Given the description of an element on the screen output the (x, y) to click on. 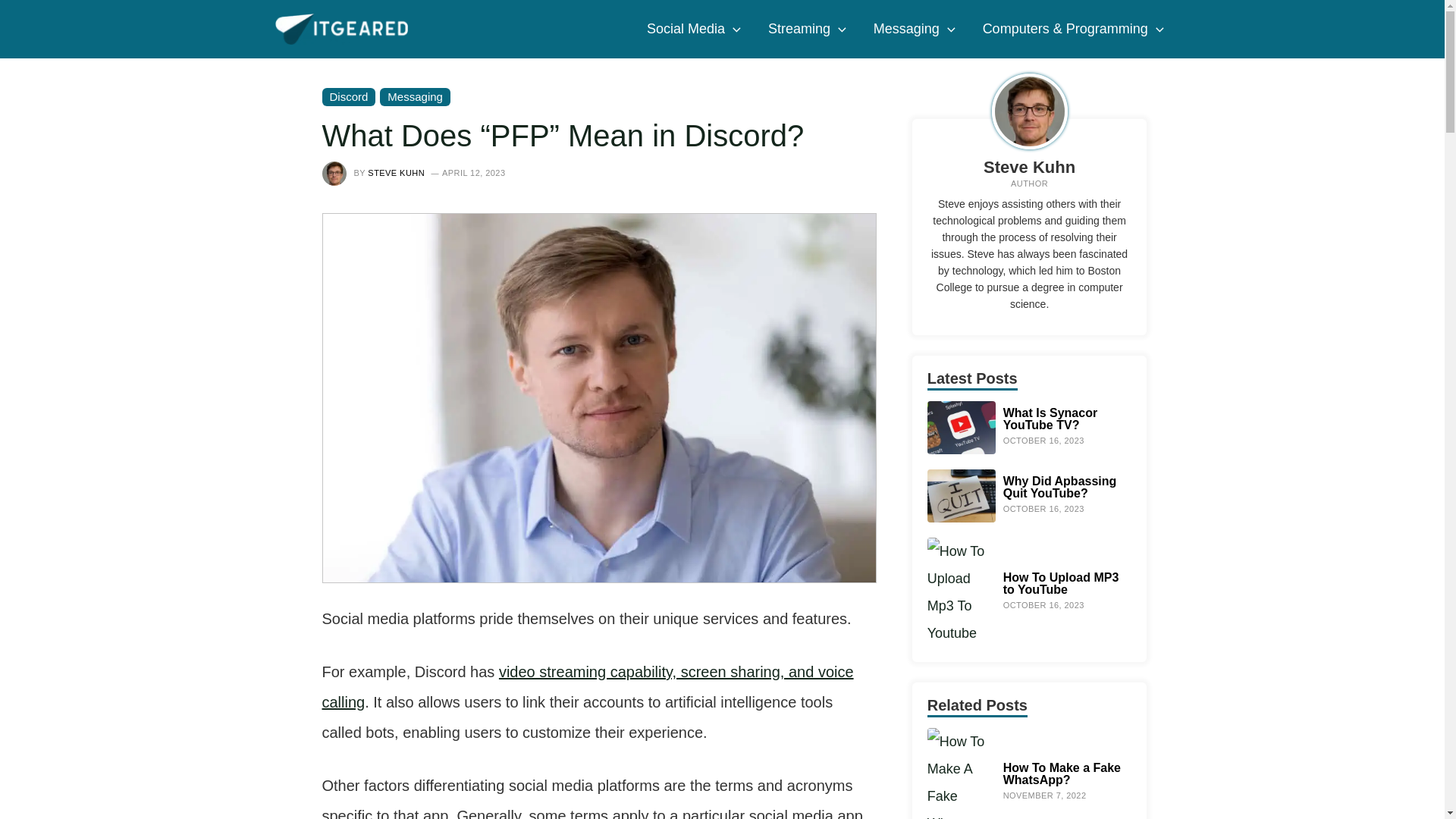
Social Media (693, 28)
Streaming (807, 28)
Messaging (914, 28)
